Given the description of an element on the screen output the (x, y) to click on. 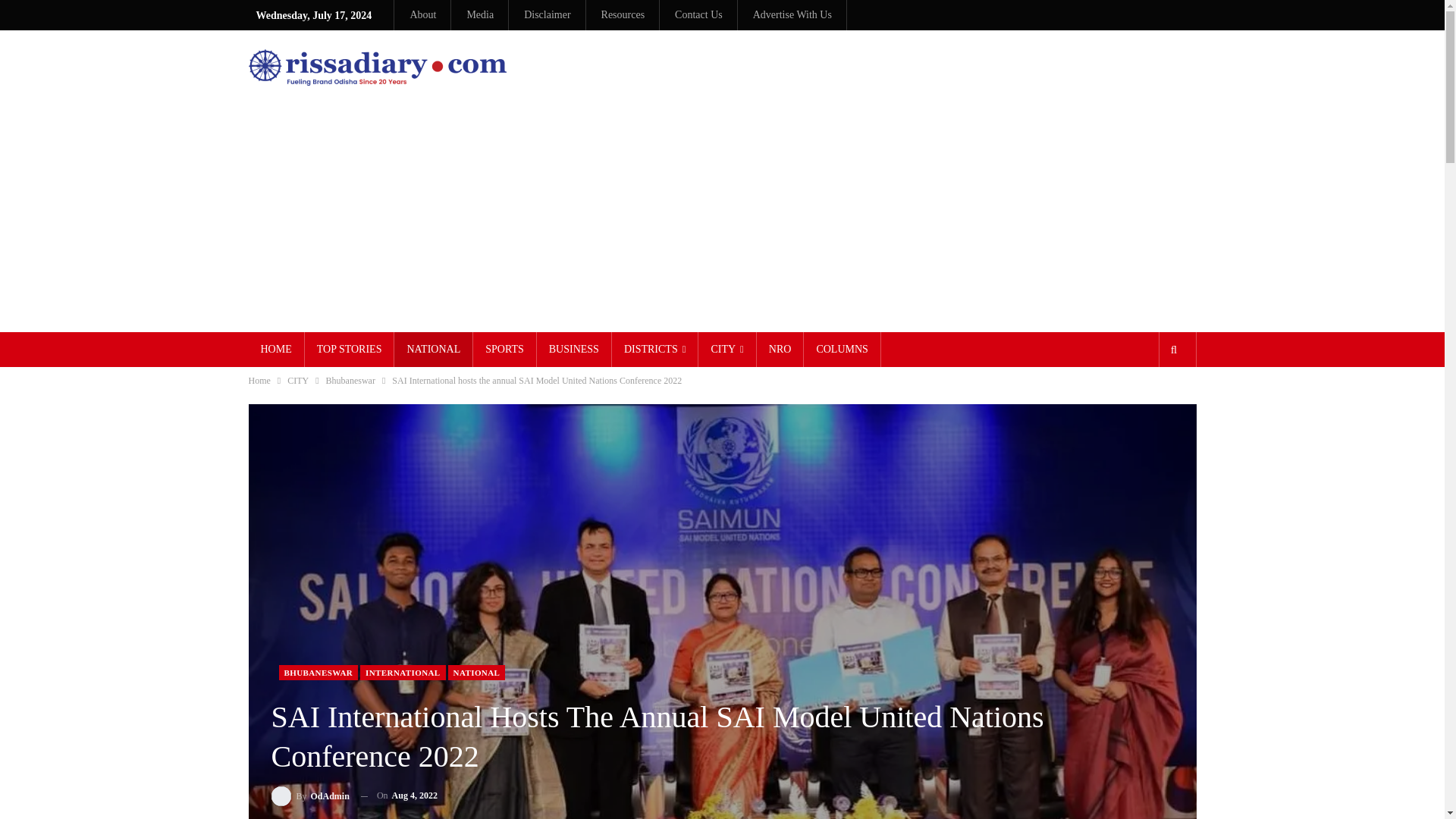
About (422, 14)
Resources (623, 14)
Contact Us (698, 14)
Media (479, 14)
Browse Author Articles (309, 795)
SPORTS (504, 349)
HOME (276, 349)
Disclaimer (547, 14)
Advertise With Us (791, 14)
BUSINESS (574, 349)
DISTRICTS (654, 349)
NATIONAL (432, 349)
TOP STORIES (349, 349)
